Given the description of an element on the screen output the (x, y) to click on. 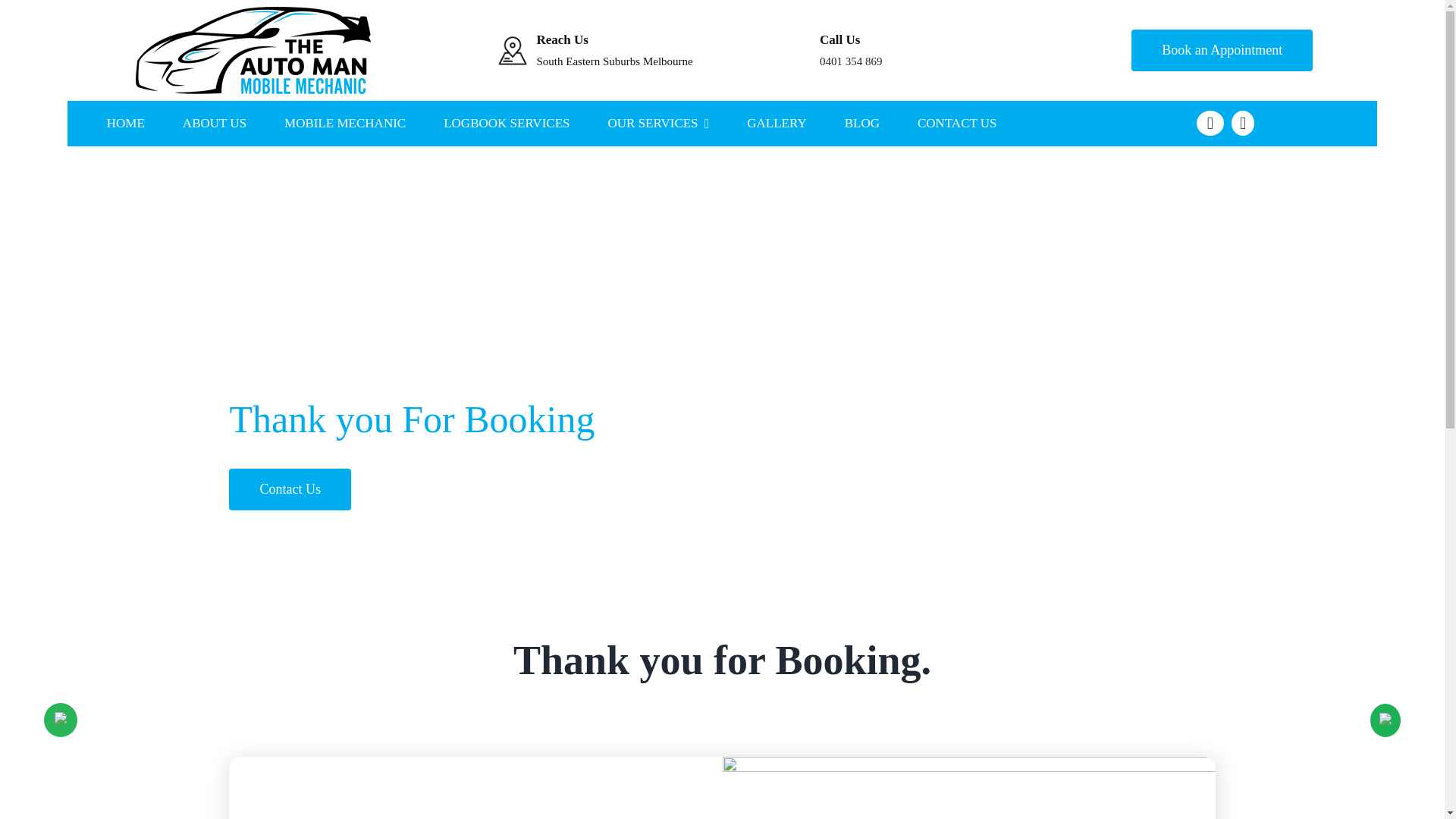
GALLERY (776, 123)
CONTACT US (957, 123)
LOGBOOK SERVICES (506, 123)
HOME (125, 123)
0401 354 869 (850, 61)
MOBILE MECHANIC (344, 123)
Thank you for Booking. (721, 670)
BLOG (861, 123)
OUR SERVICES (658, 123)
ABOUT US (214, 123)
